Given the description of an element on the screen output the (x, y) to click on. 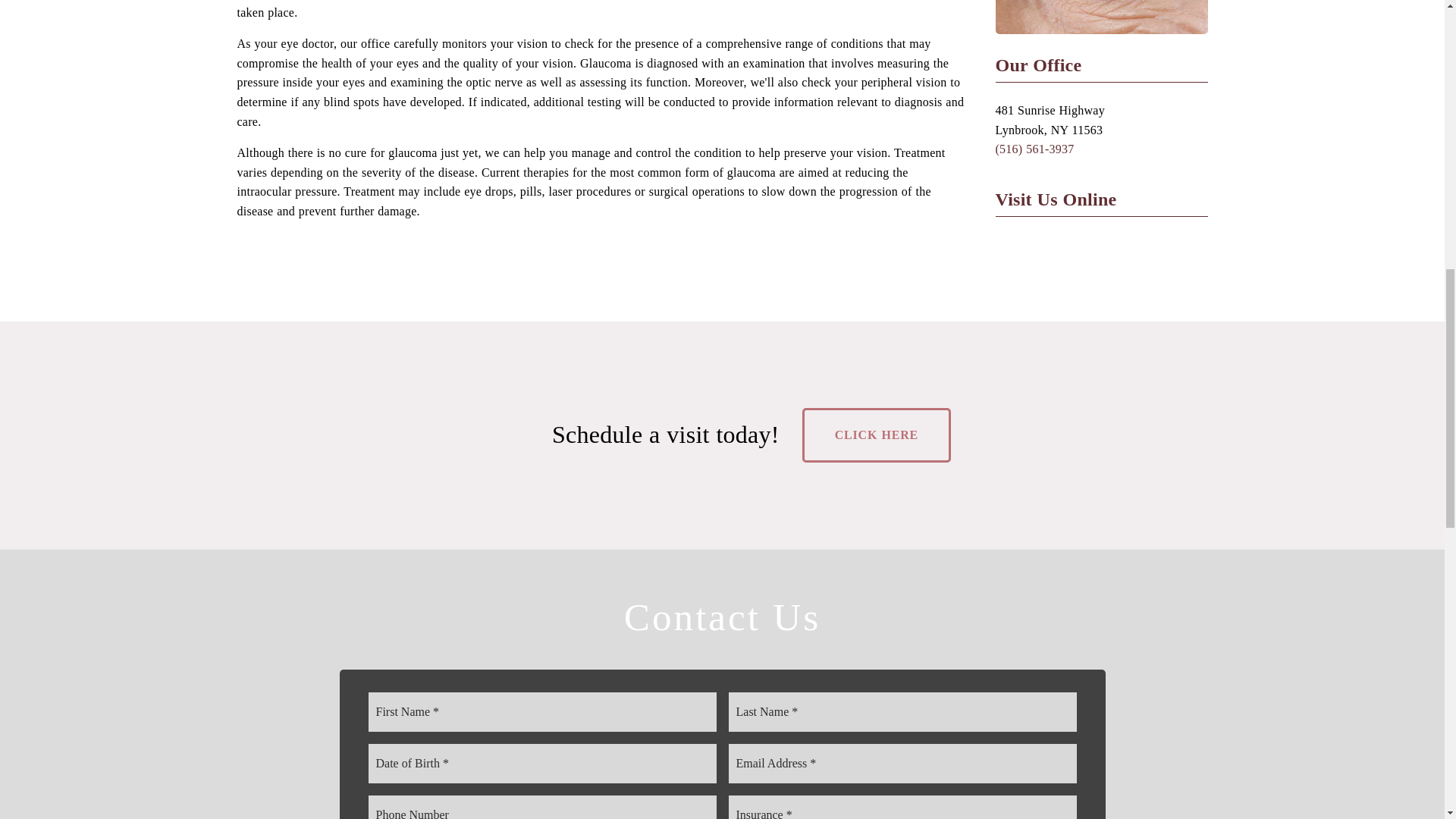
CLICK HERE (876, 434)
